Given the description of an element on the screen output the (x, y) to click on. 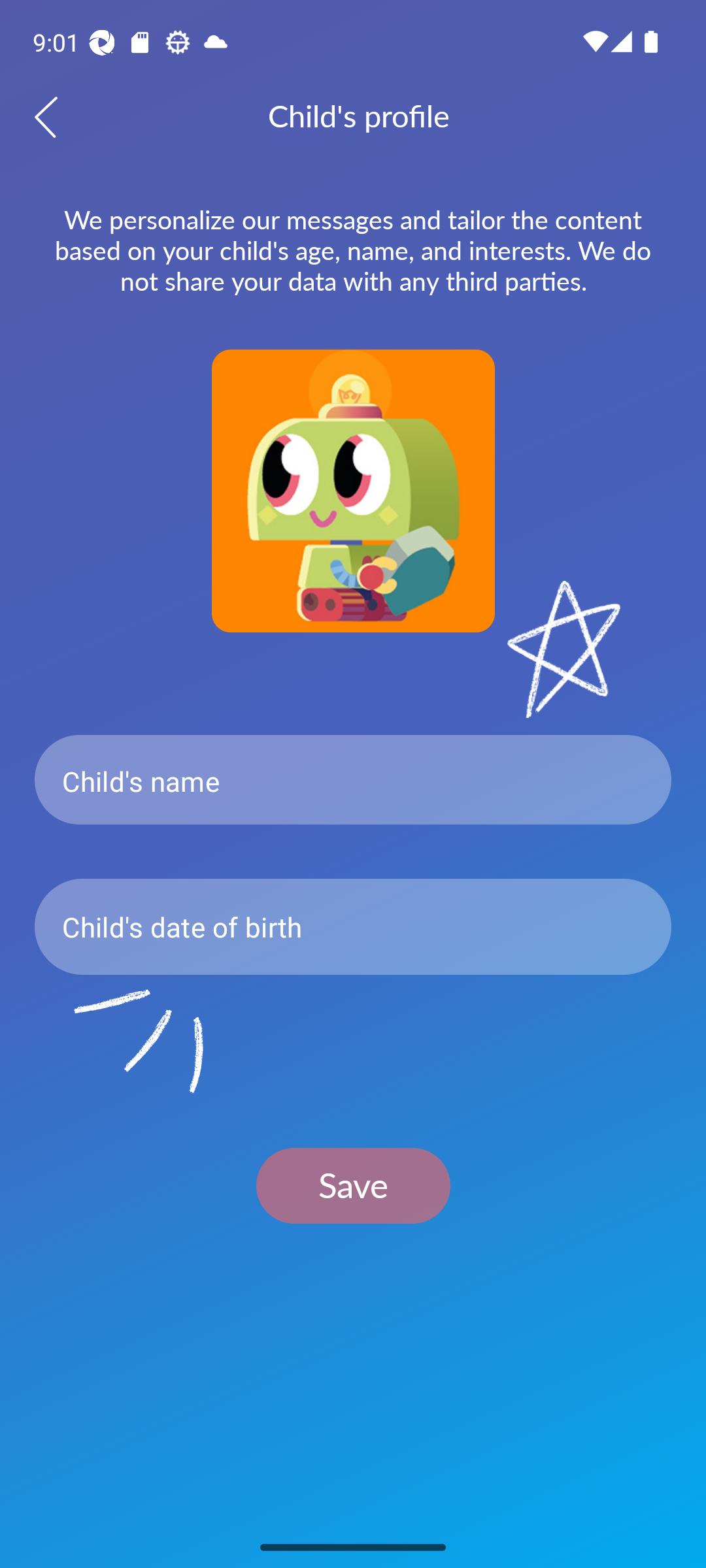
Child's name (352, 779)
Child's date of birth (352, 926)
Save (353, 1185)
